Given the description of an element on the screen output the (x, y) to click on. 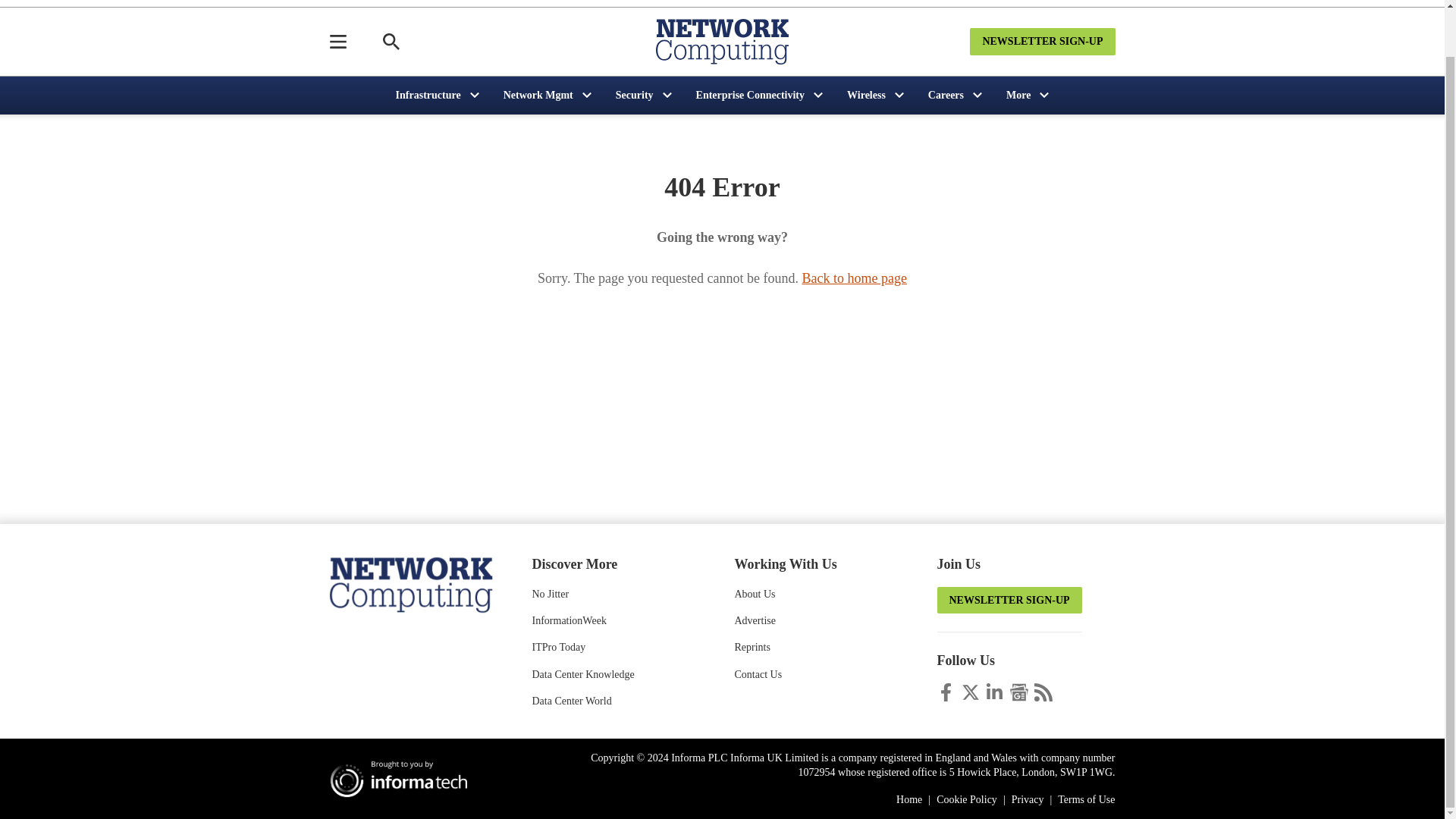
Network Computing (410, 583)
Network Computing Logo (722, 41)
Informa Tech (404, 778)
NEWSLETTER SIGN-UP (1042, 40)
